Given the description of an element on the screen output the (x, y) to click on. 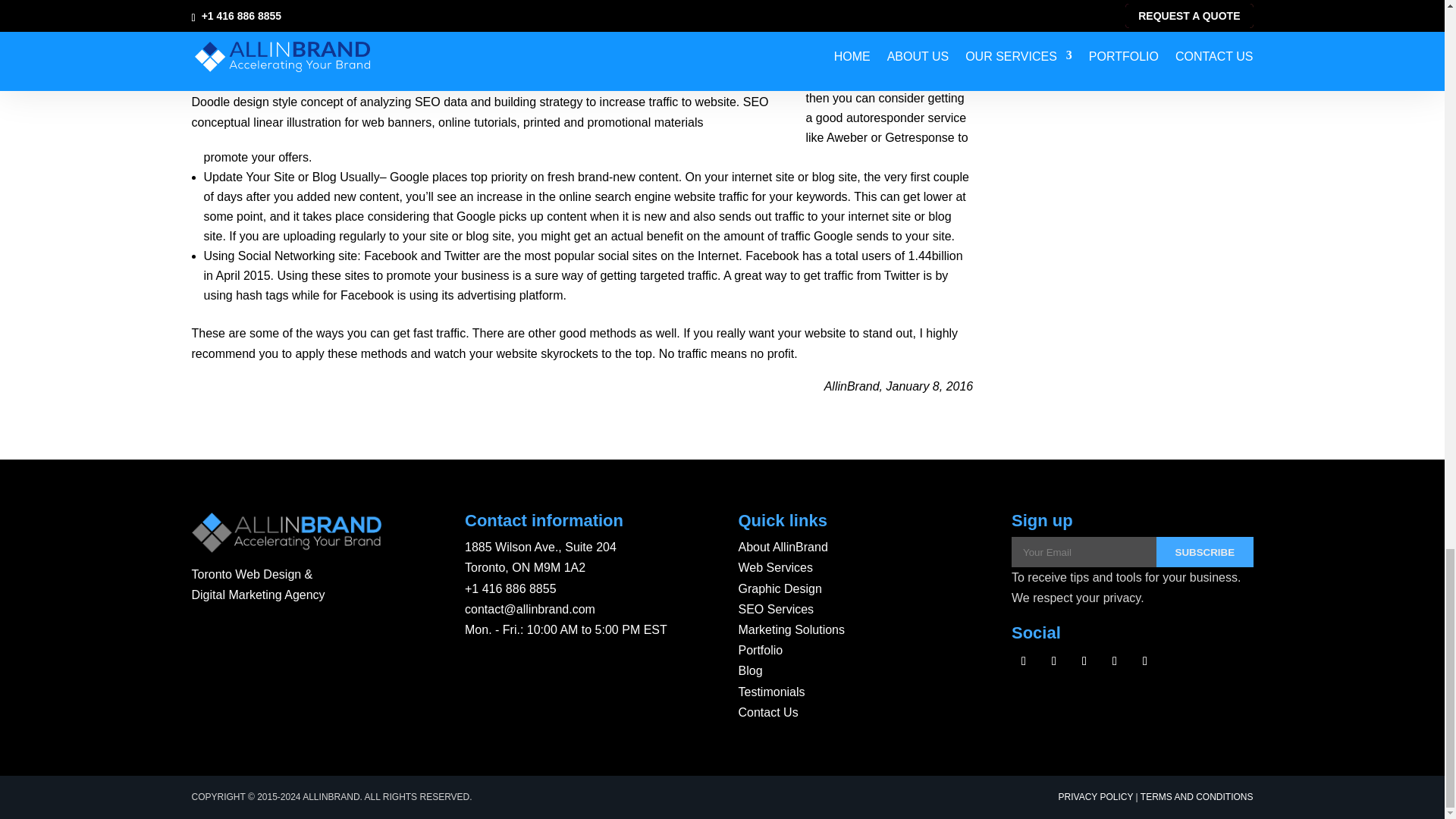
Follow on Twitter (1053, 661)
PRIVACY POLICY (1096, 796)
Testimonials (771, 691)
Footer-logo (285, 532)
Blog (750, 670)
Follow on Facebook (1023, 661)
Follow on Instagram (1083, 661)
Follow on Youtube (1114, 661)
SUBSCRIBE (1204, 552)
SUBSCRIBE (1204, 552)
